Given the description of an element on the screen output the (x, y) to click on. 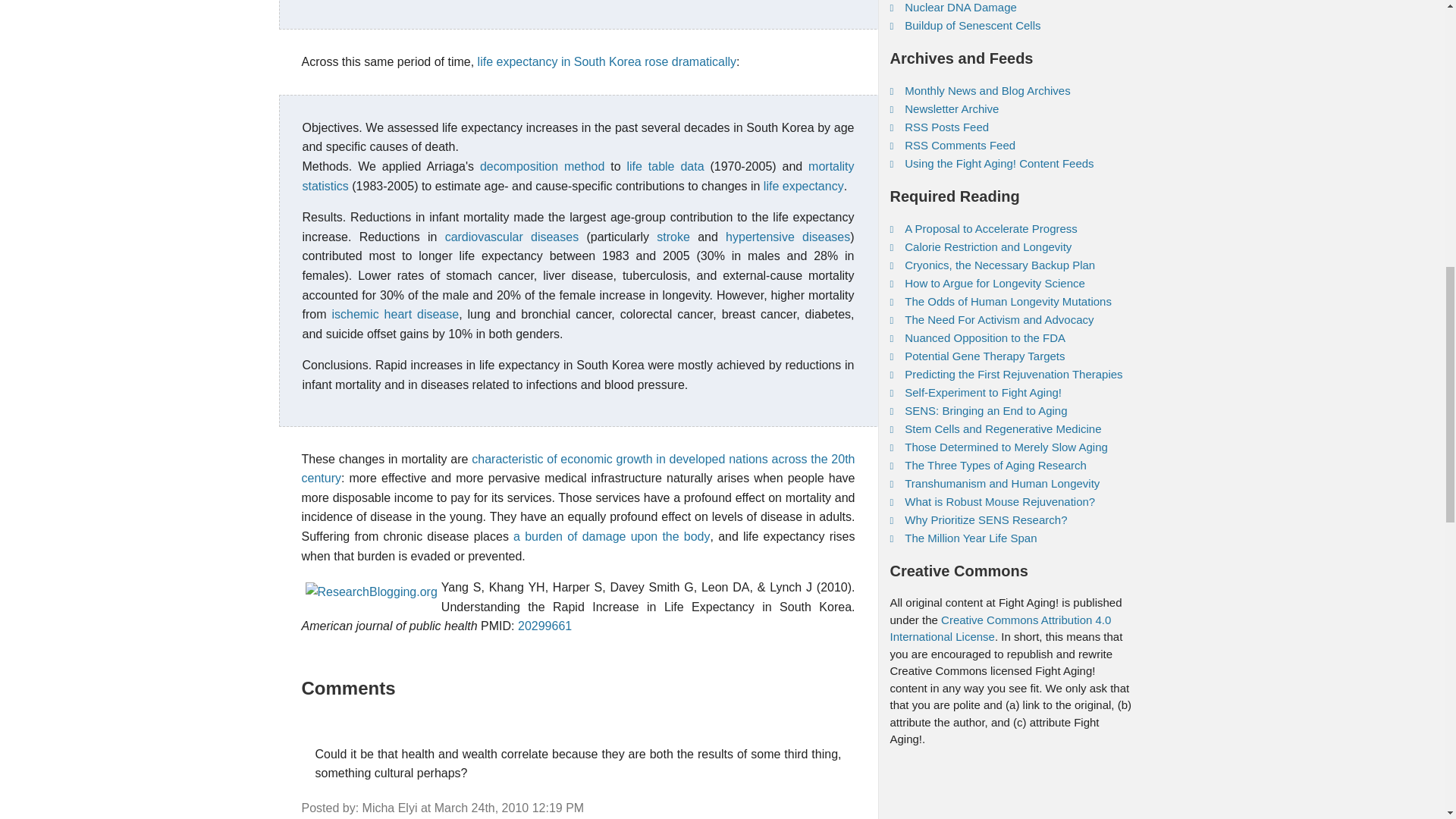
mortality statistics (577, 175)
a burden of damage upon the body (611, 535)
life table data (664, 165)
20299661 (545, 625)
life expectancy (803, 185)
stroke (673, 236)
decomposition method (542, 165)
life expectancy in South Korea rose dramatically (606, 61)
hypertensive diseases (787, 236)
